Given the description of an element on the screen output the (x, y) to click on. 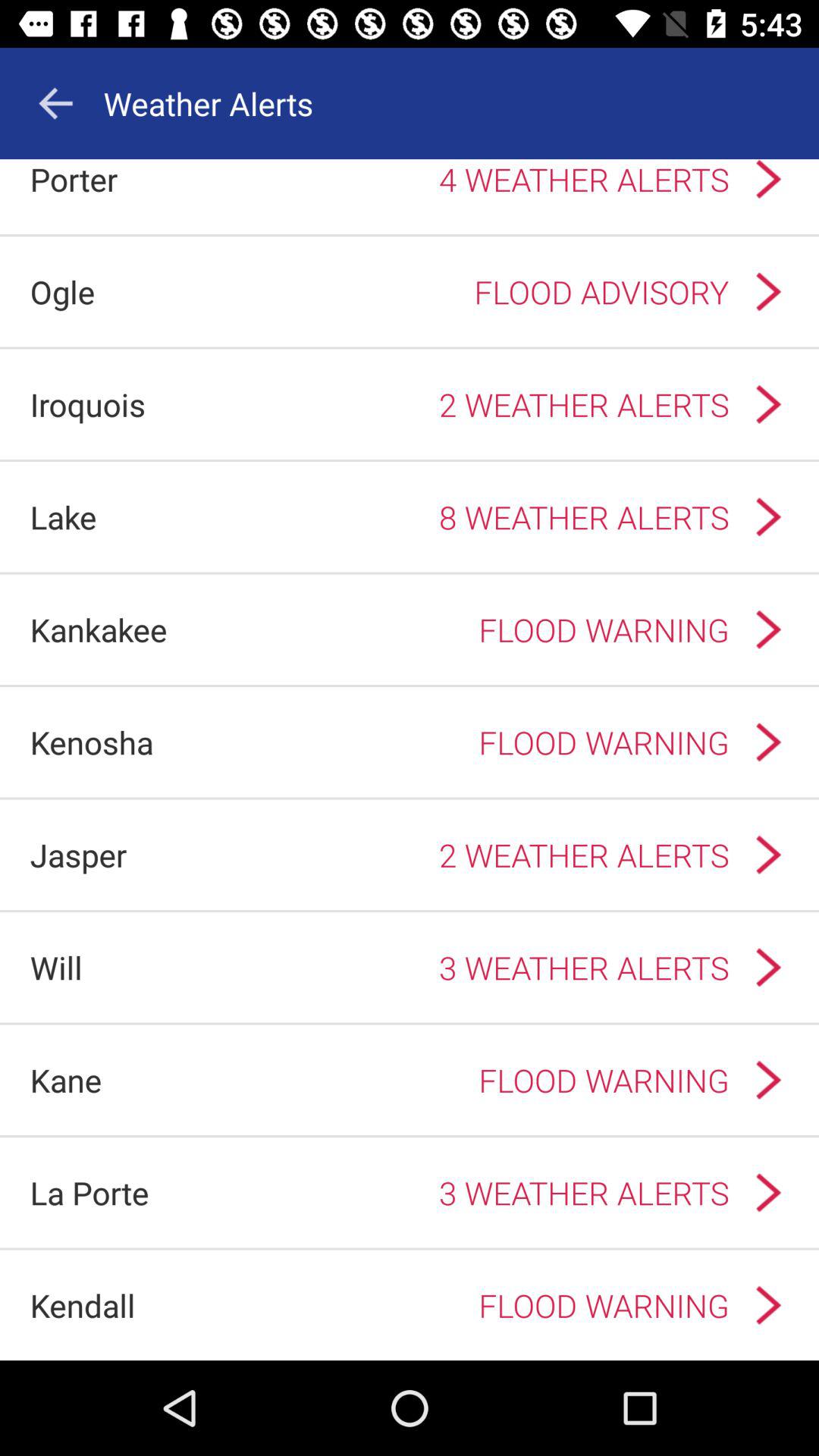
go back (55, 103)
